Given the description of an element on the screen output the (x, y) to click on. 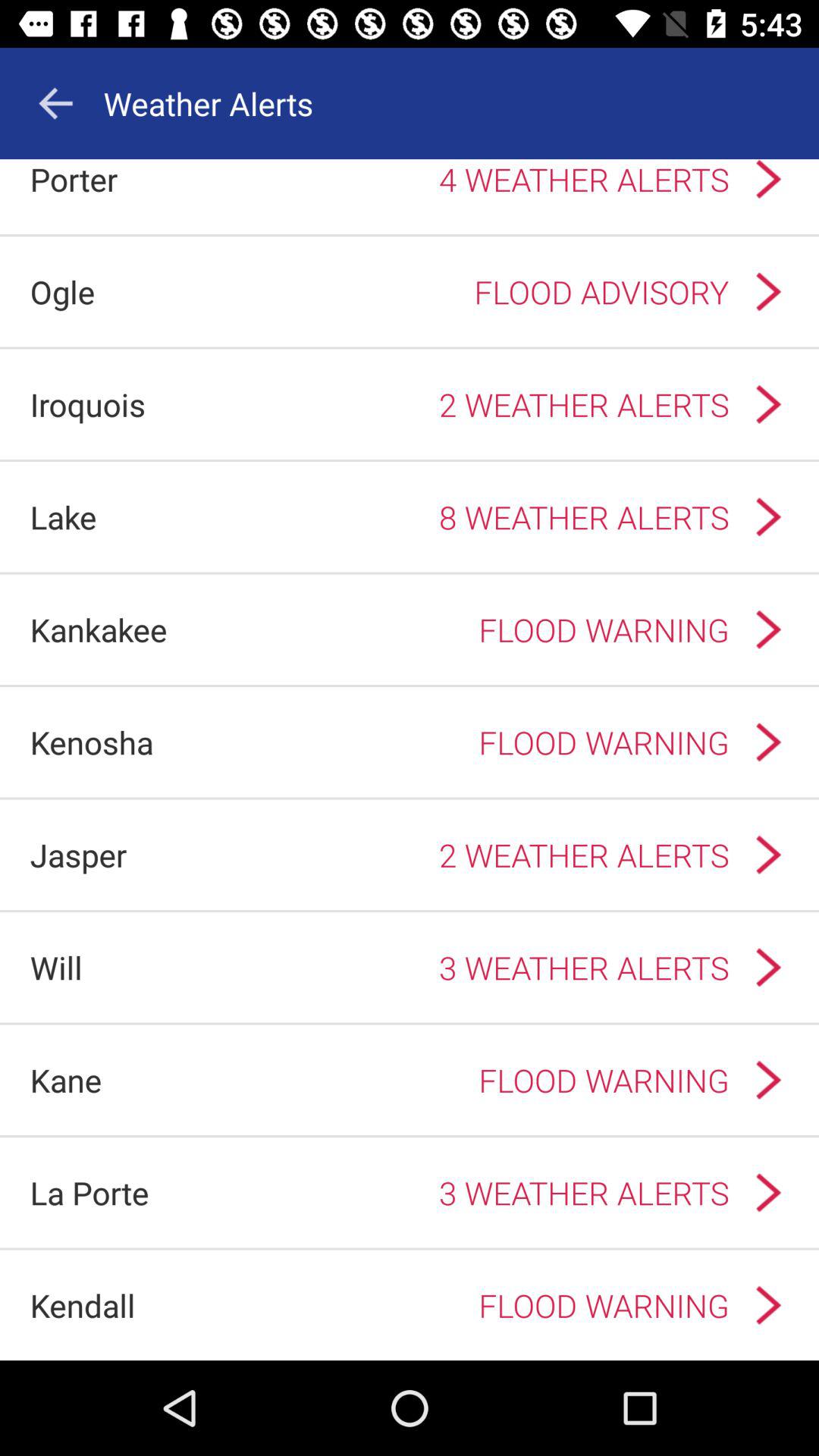
go back (55, 103)
